Given the description of an element on the screen output the (x, y) to click on. 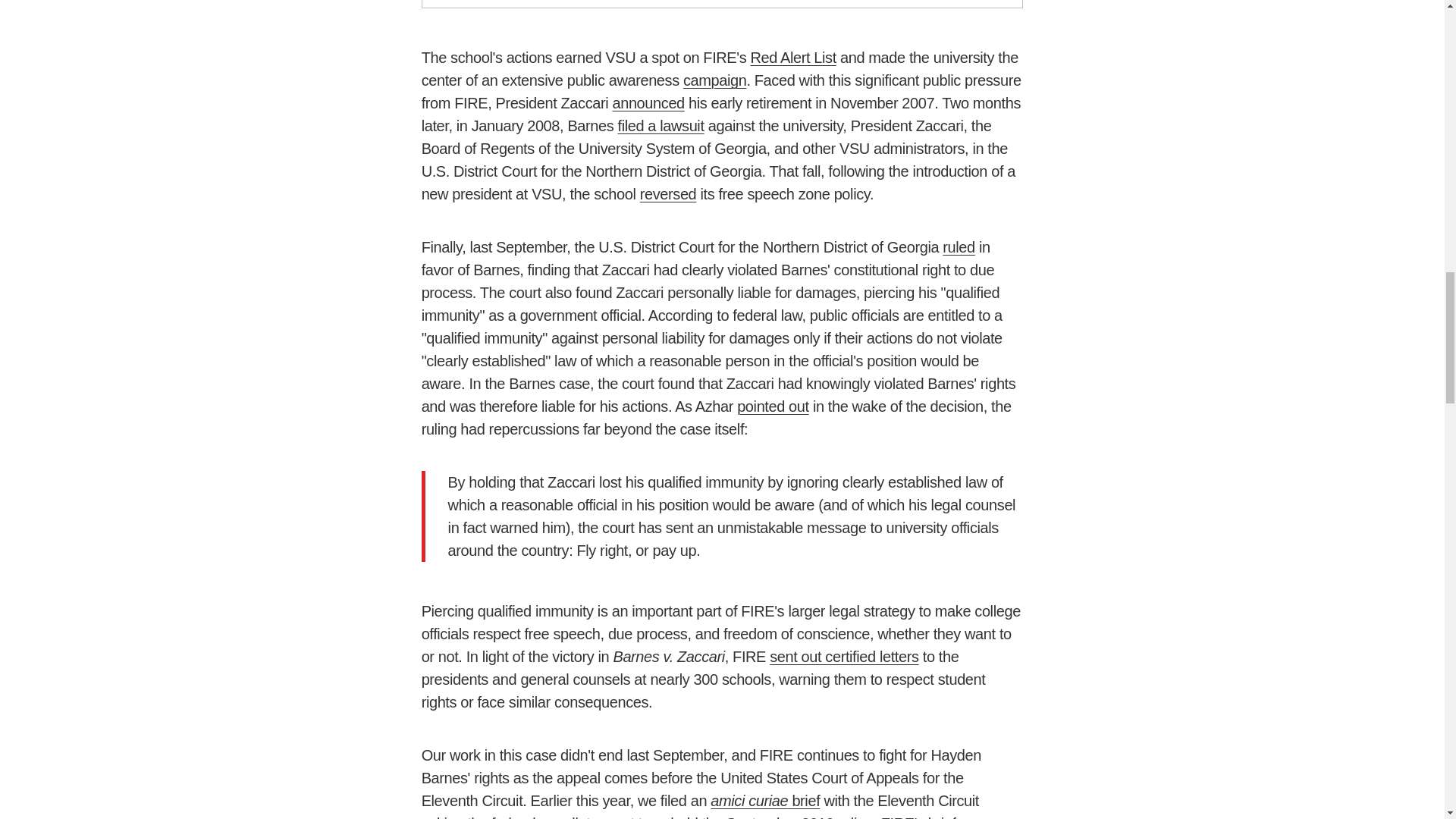
ruled (958, 247)
filed a lawsuit (660, 125)
sent out certified letters (844, 656)
pointed out (772, 406)
announced (647, 103)
campaign (714, 80)
reversed (668, 193)
Red Alert List (792, 57)
